Given the description of an element on the screen output the (x, y) to click on. 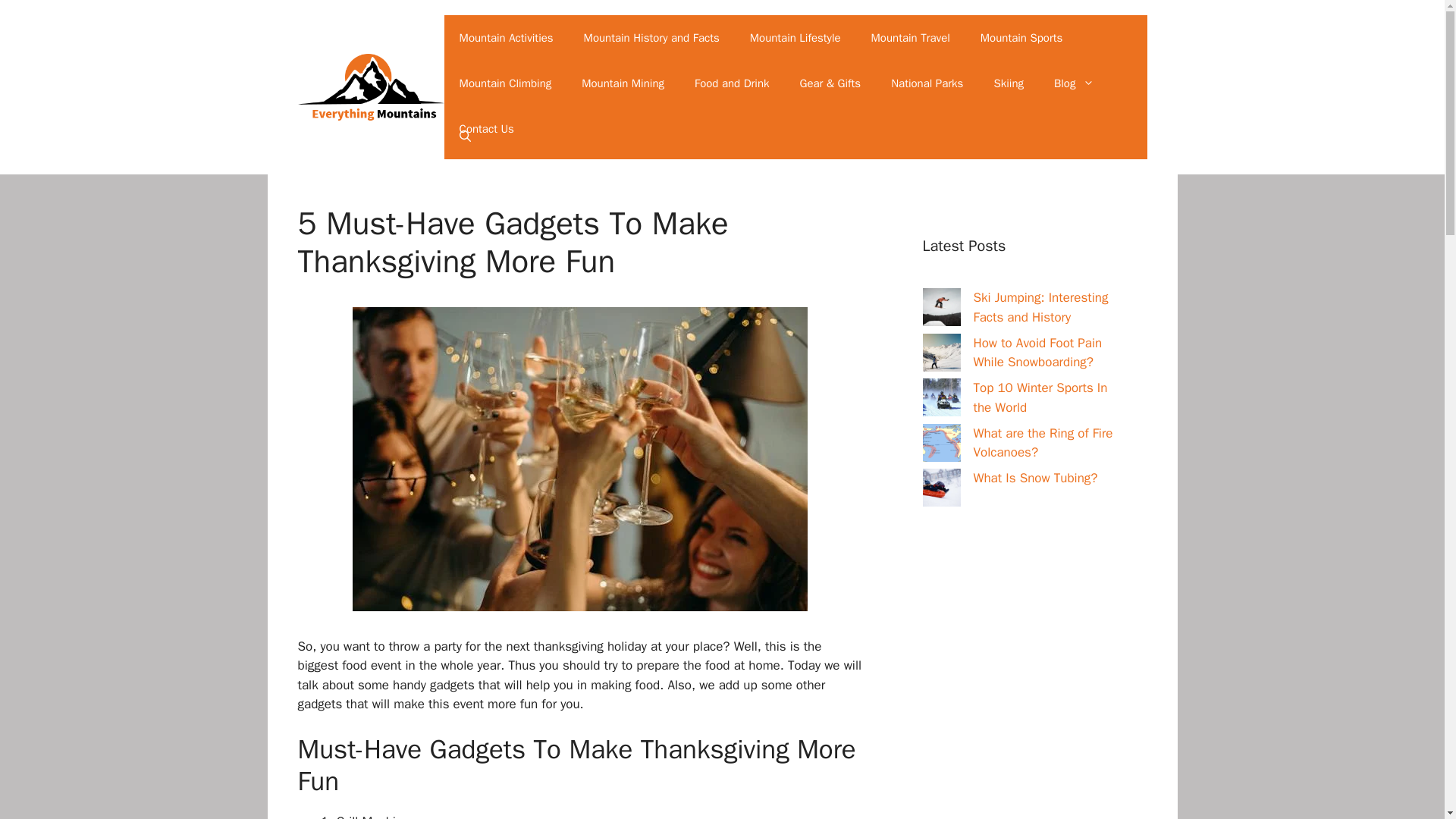
Blog (1074, 83)
Mountain Lifestyle (795, 37)
Mountain Mining (622, 83)
How to Avoid Foot Pain While Snowboarding? (1038, 352)
What Is Snow Tubing? (1035, 478)
Top 10 Winter Sports In the World (1041, 397)
Mountain Sports (1021, 37)
Contact Us (486, 128)
Mountain Activities (506, 37)
What are the Ring of Fire Volcanoes? (1043, 442)
